Given the description of an element on the screen output the (x, y) to click on. 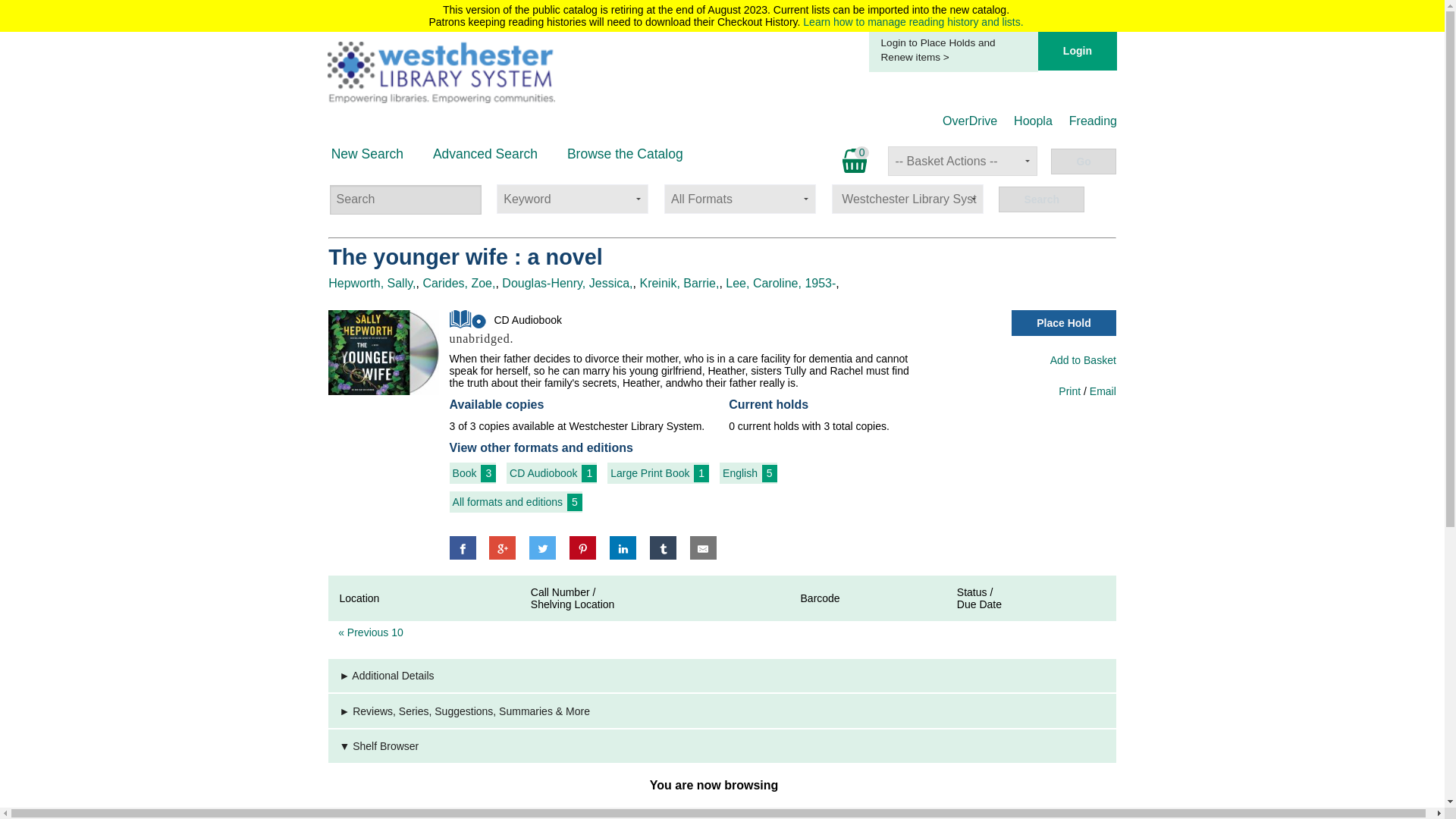
OverDrive (969, 120)
Hoopla (1032, 120)
Place Hold (1063, 322)
Book (465, 473)
Email (1102, 390)
Douglas-Henry, Jessica, (566, 282)
Large Print Book (649, 473)
Learn how to manage reading history and lists. (913, 21)
Lee, Caroline, 1953- (780, 282)
Login (1077, 50)
OverDrive (969, 120)
New Search (367, 153)
CD Audiobook (467, 319)
CD Audiobook (543, 473)
Freading (1092, 120)
